Given the description of an element on the screen output the (x, y) to click on. 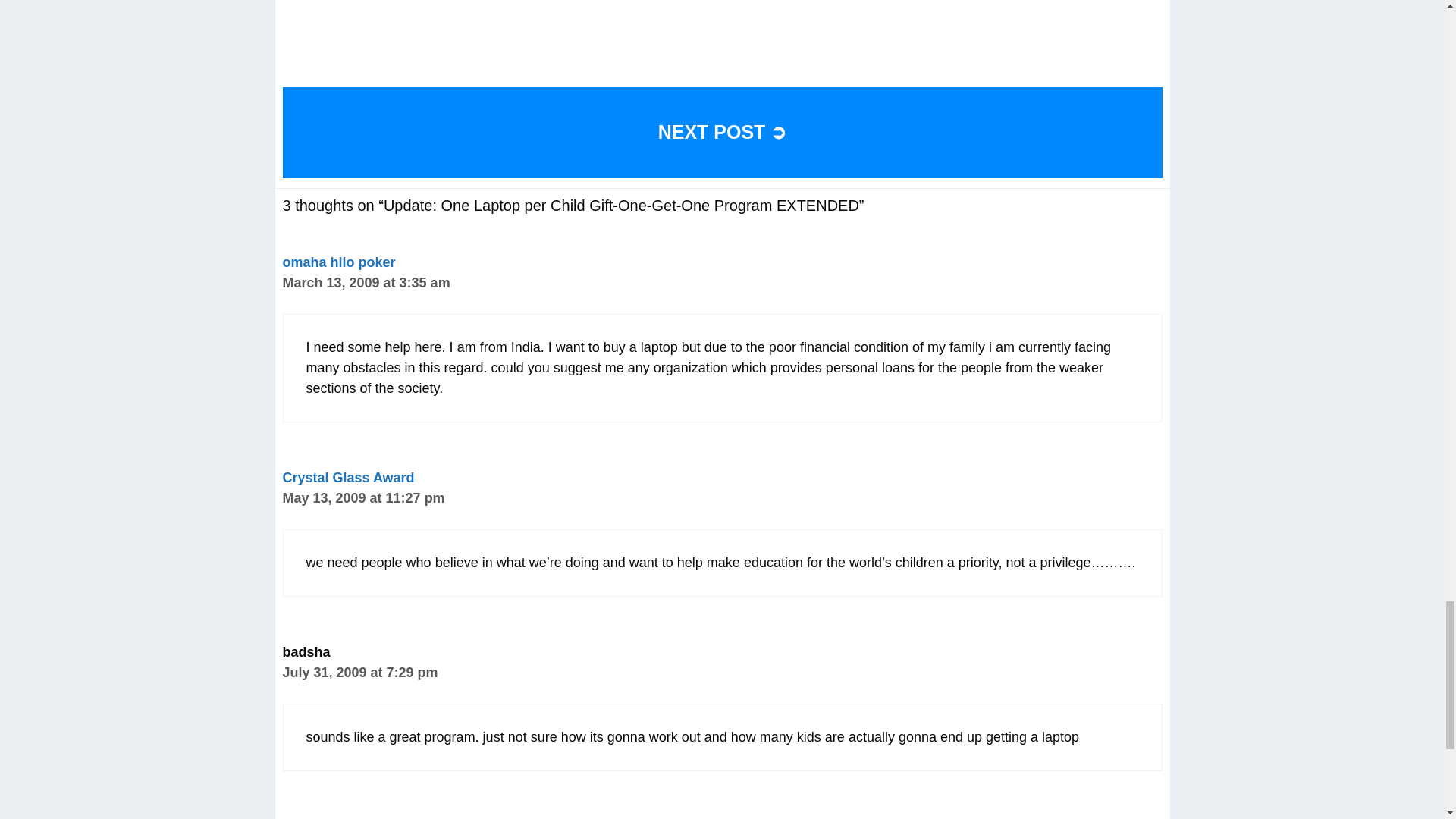
Crystal Glass Award (347, 477)
July 31, 2009 at 7:29 pm (360, 672)
March 13, 2009 at 3:35 am (365, 282)
May 13, 2009 at 11:27 pm (363, 498)
omaha hilo poker (338, 262)
